Given the description of an element on the screen output the (x, y) to click on. 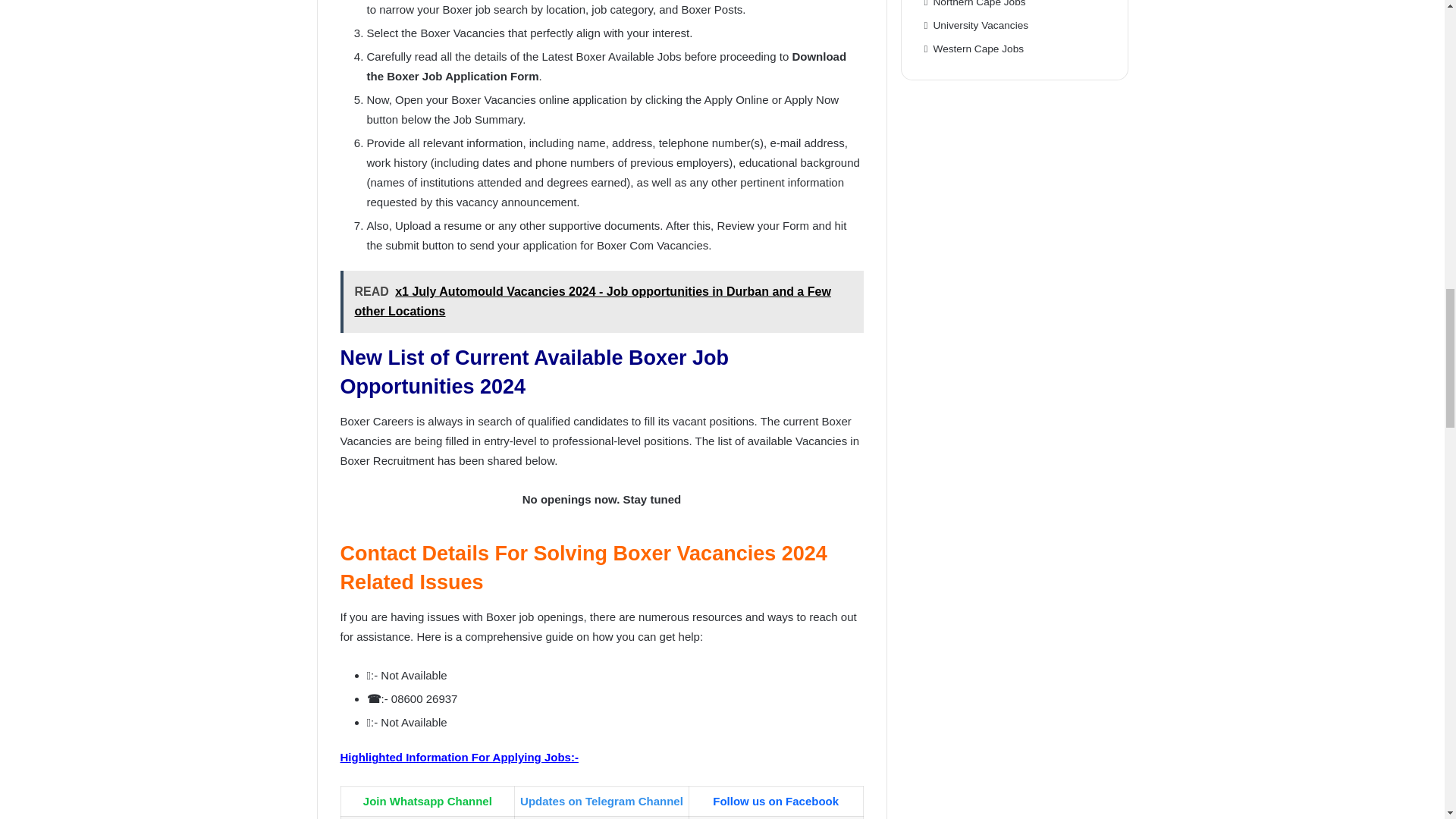
Updates on Telegram Channel (600, 800)
Follow us on Facebook (775, 800)
Join Whatsapp Channel (427, 800)
